Given the description of an element on the screen output the (x, y) to click on. 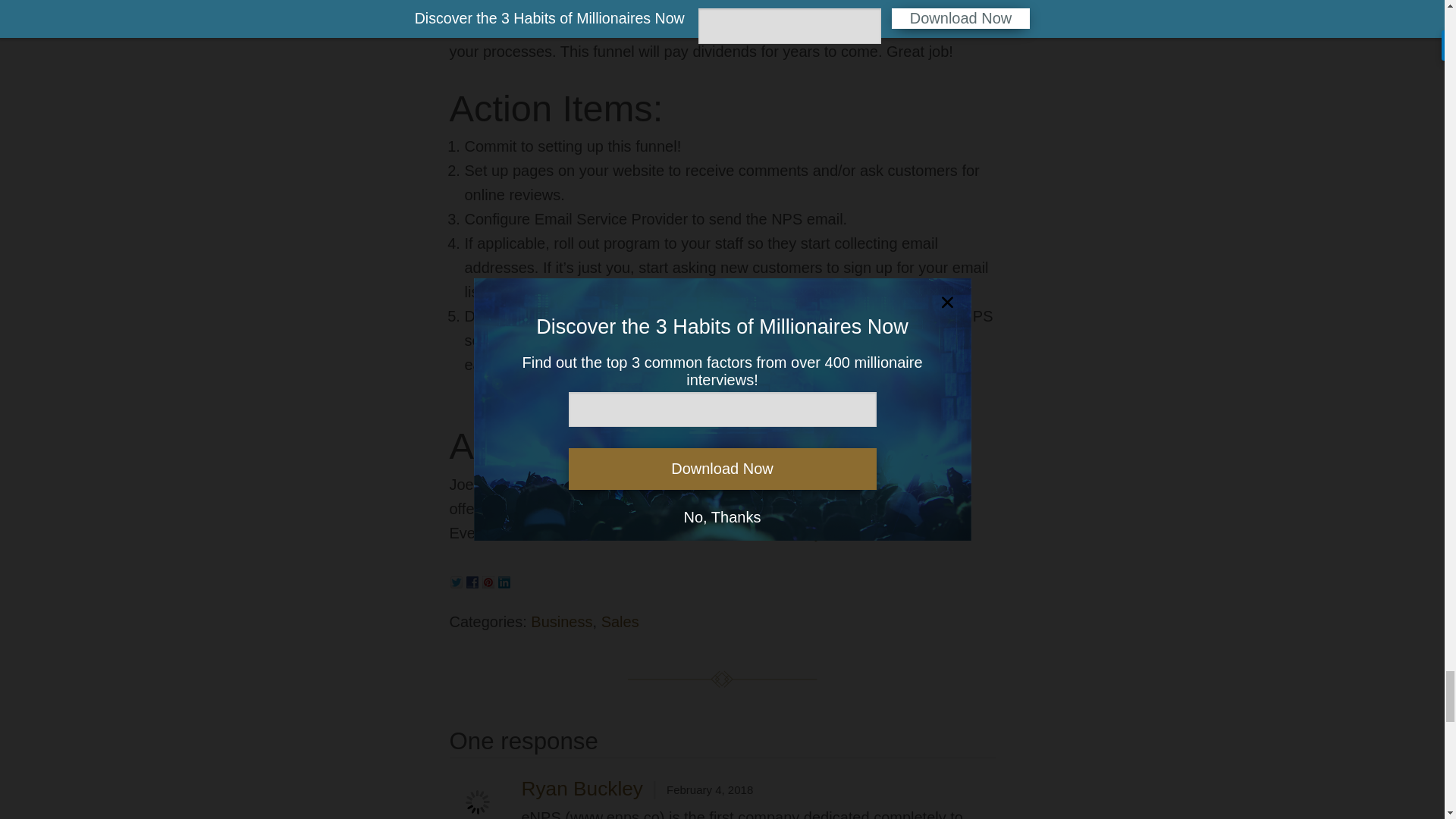
Linkedin (505, 579)
Pinterest (489, 579)
Facebook (473, 579)
Twitter (457, 579)
